Given the description of an element on the screen output the (x, y) to click on. 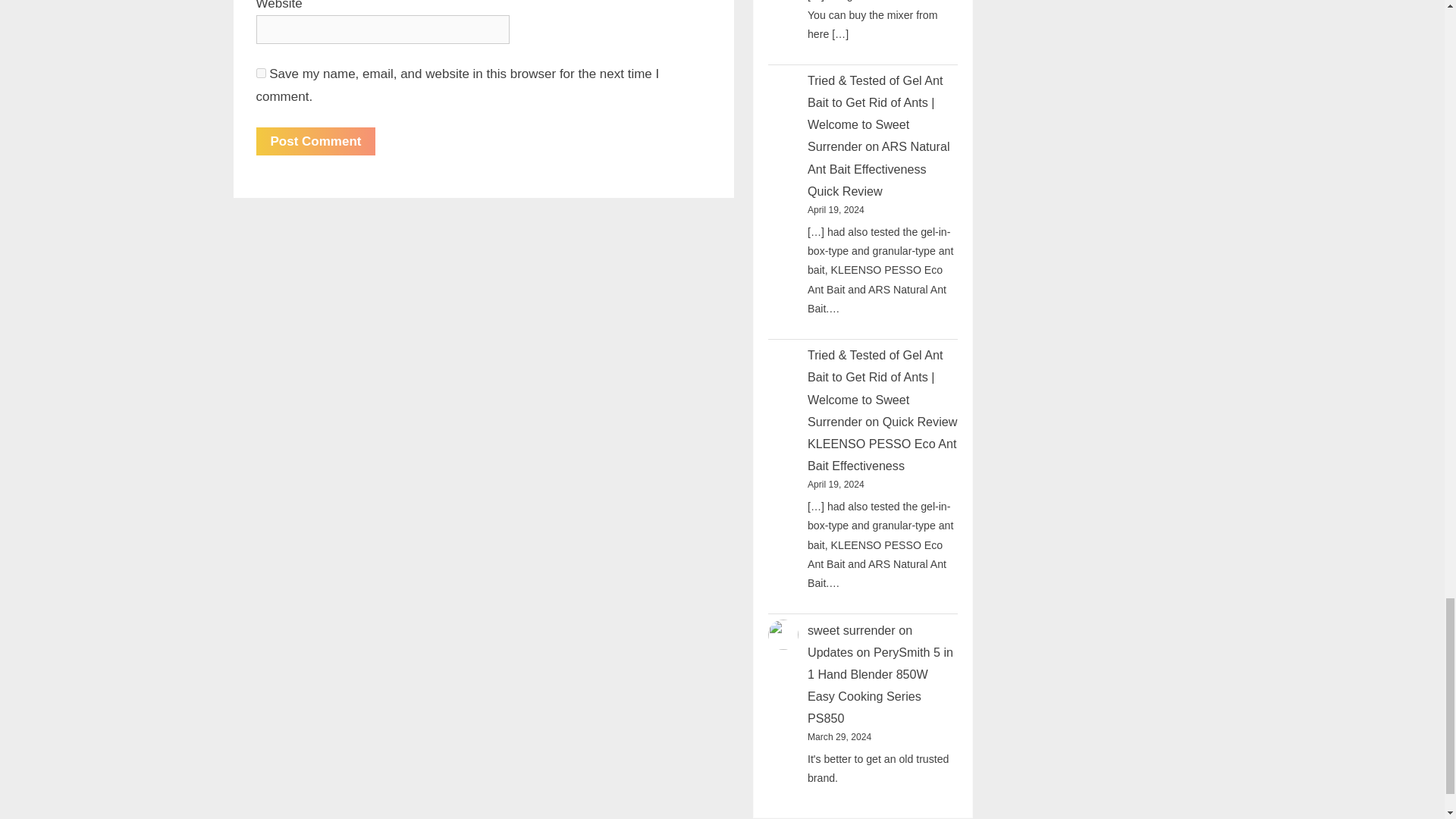
Post Comment (315, 141)
Post Comment (315, 141)
yes (261, 72)
